Given the description of an element on the screen output the (x, y) to click on. 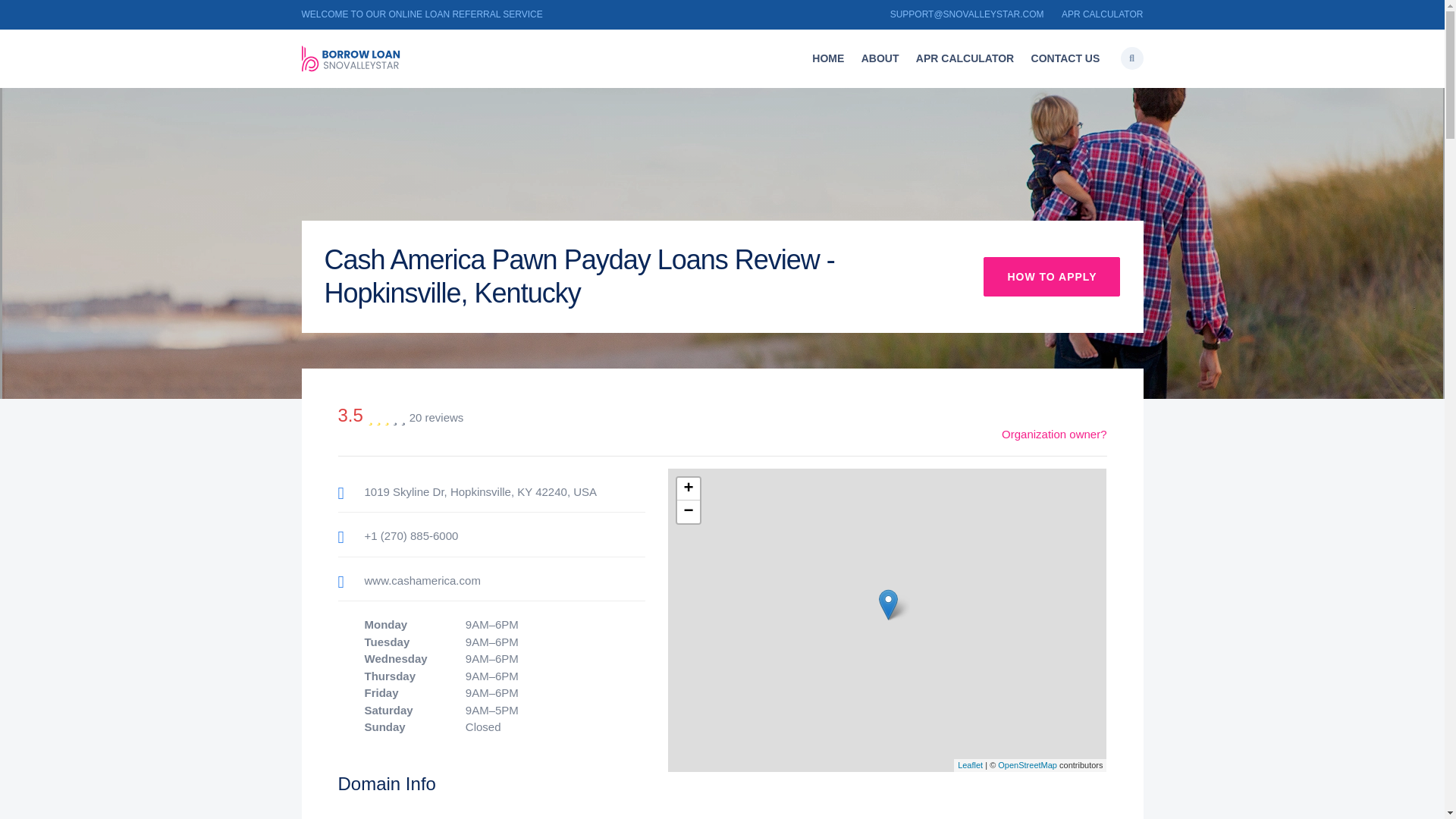
A JS library for interactive maps (970, 764)
Organization owner? (1053, 433)
ABOUT (879, 58)
HOW TO APPLY (1051, 276)
Zoom in (687, 488)
HOME (827, 58)
Zoom out (687, 511)
APR CALCULATOR (1101, 14)
Organization owner? (1053, 433)
Leaflet (970, 764)
CONTACT US (1065, 58)
APR CALCULATOR (965, 58)
OpenStreetMap (1027, 764)
